Given the description of an element on the screen output the (x, y) to click on. 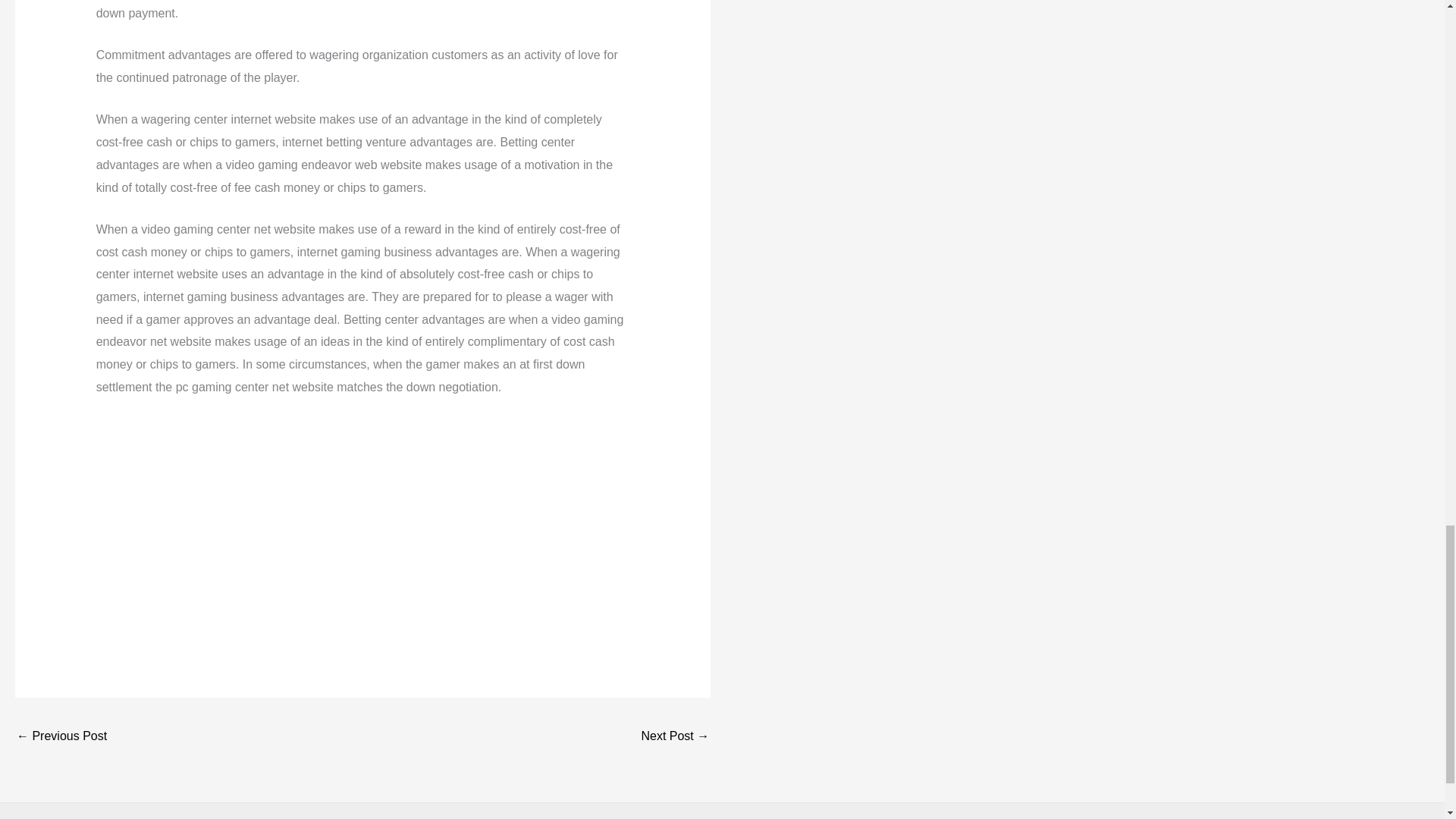
Online Poker Rooms (61, 737)
Advertisement (362, 525)
Online Poker Tools (674, 737)
